Given the description of an element on the screen output the (x, y) to click on. 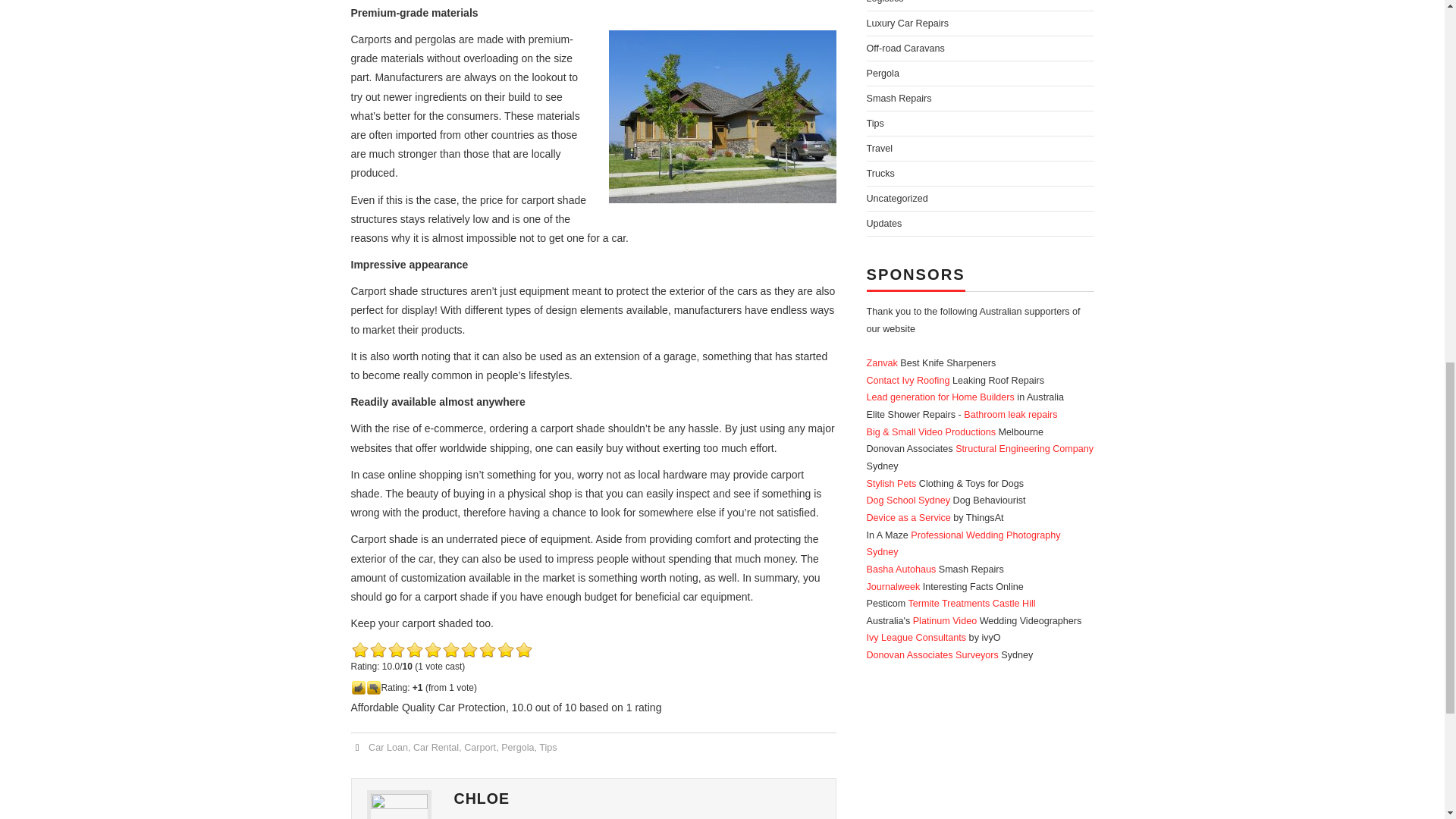
Tips (547, 747)
Car Rental (435, 747)
Car Loan (387, 747)
Pergola (517, 747)
Carport (480, 747)
